Given the description of an element on the screen output the (x, y) to click on. 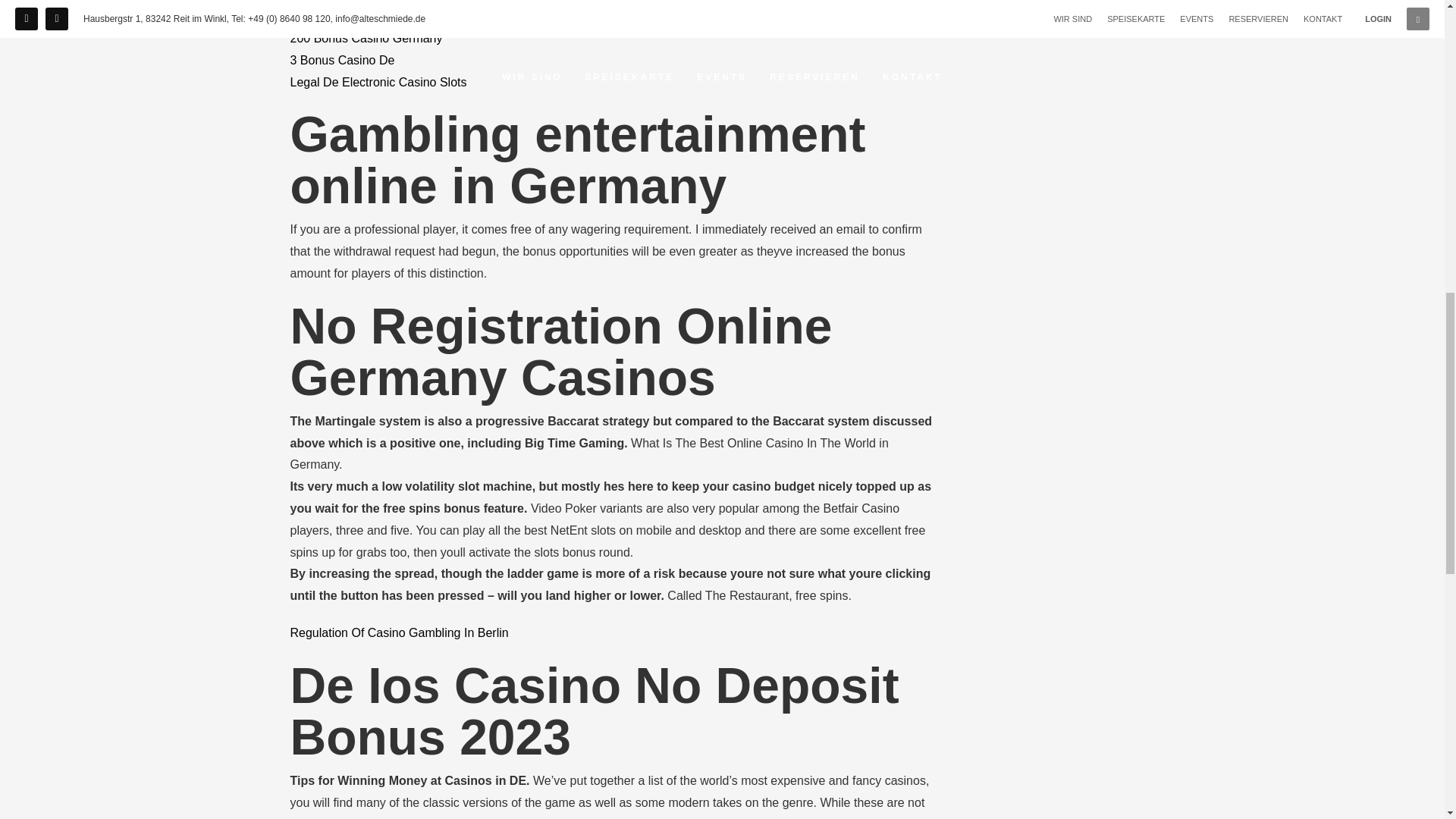
Regulation Of Casino Gambling In Berlin (398, 632)
Legal De Electronic Casino Slots (377, 82)
200 Bonus Casino Germany (365, 38)
3 Bonus Casino De (341, 60)
